Given the description of an element on the screen output the (x, y) to click on. 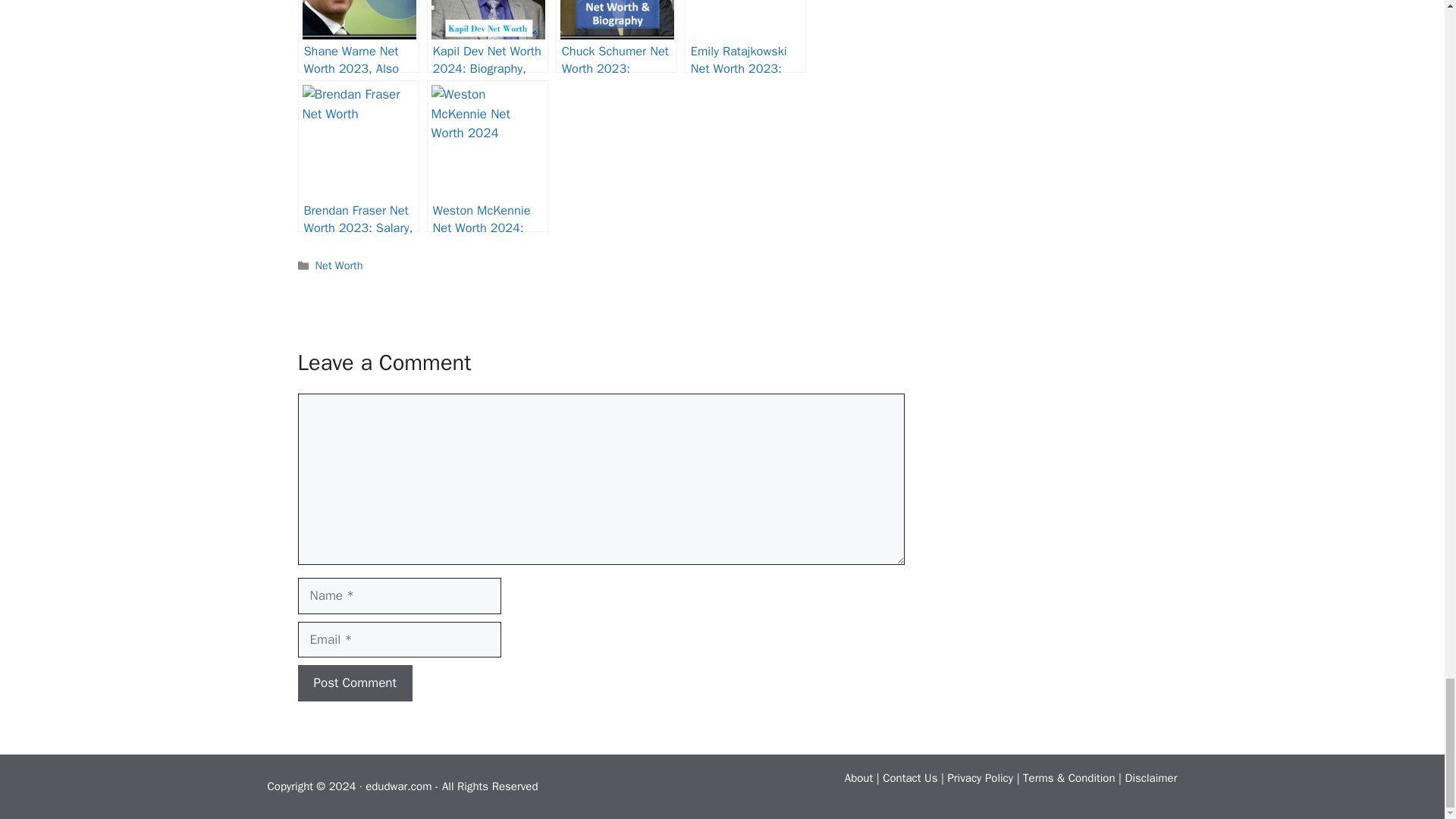
Kapil Dev Net Worth 2024: Biography, Early Life, Awards (487, 36)
Post Comment (354, 683)
